Given the description of an element on the screen output the (x, y) to click on. 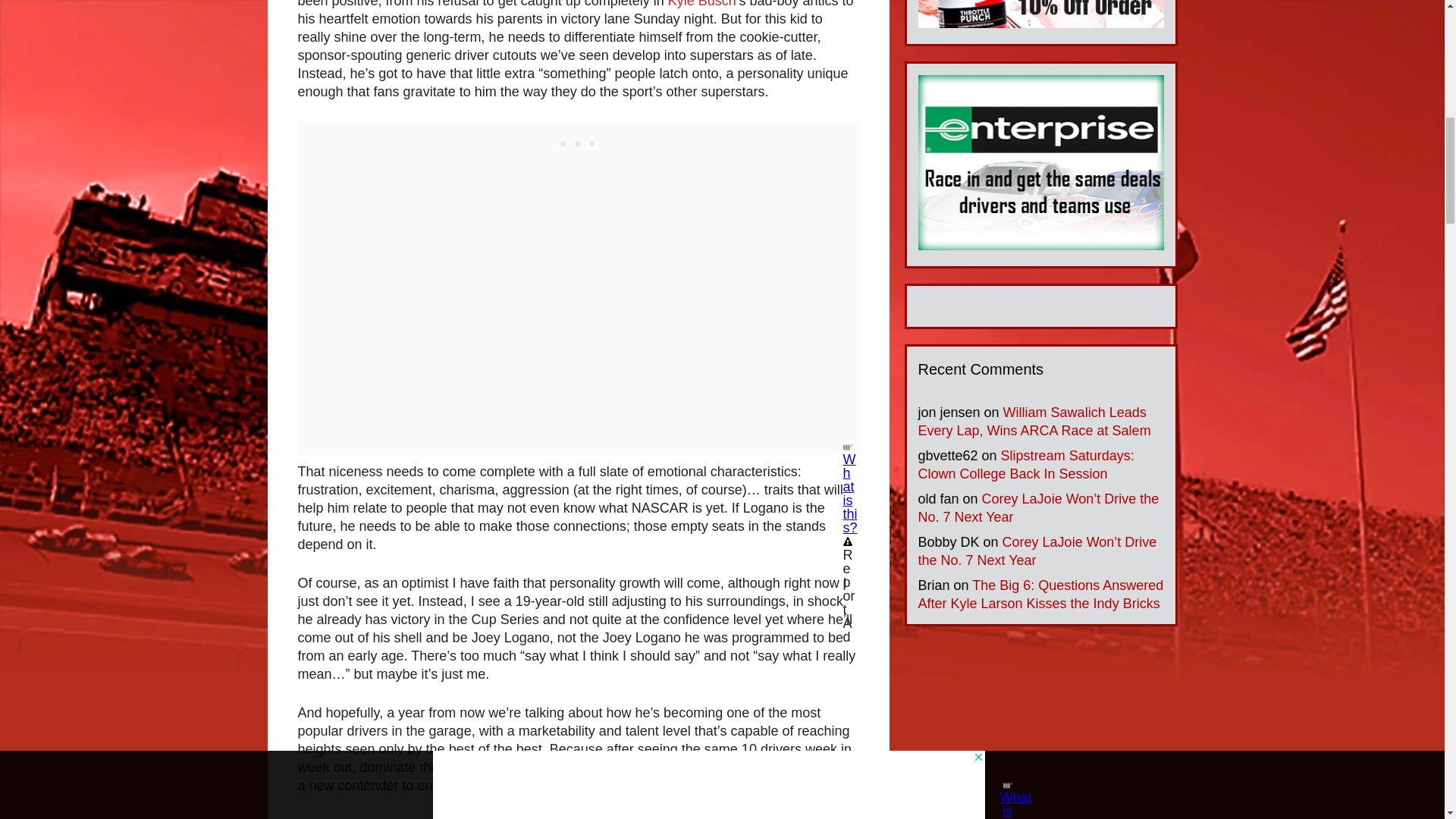
3rd party ad content (577, 139)
Kyle Busch (702, 4)
Paul Menard (678, 817)
